Given the description of an element on the screen output the (x, y) to click on. 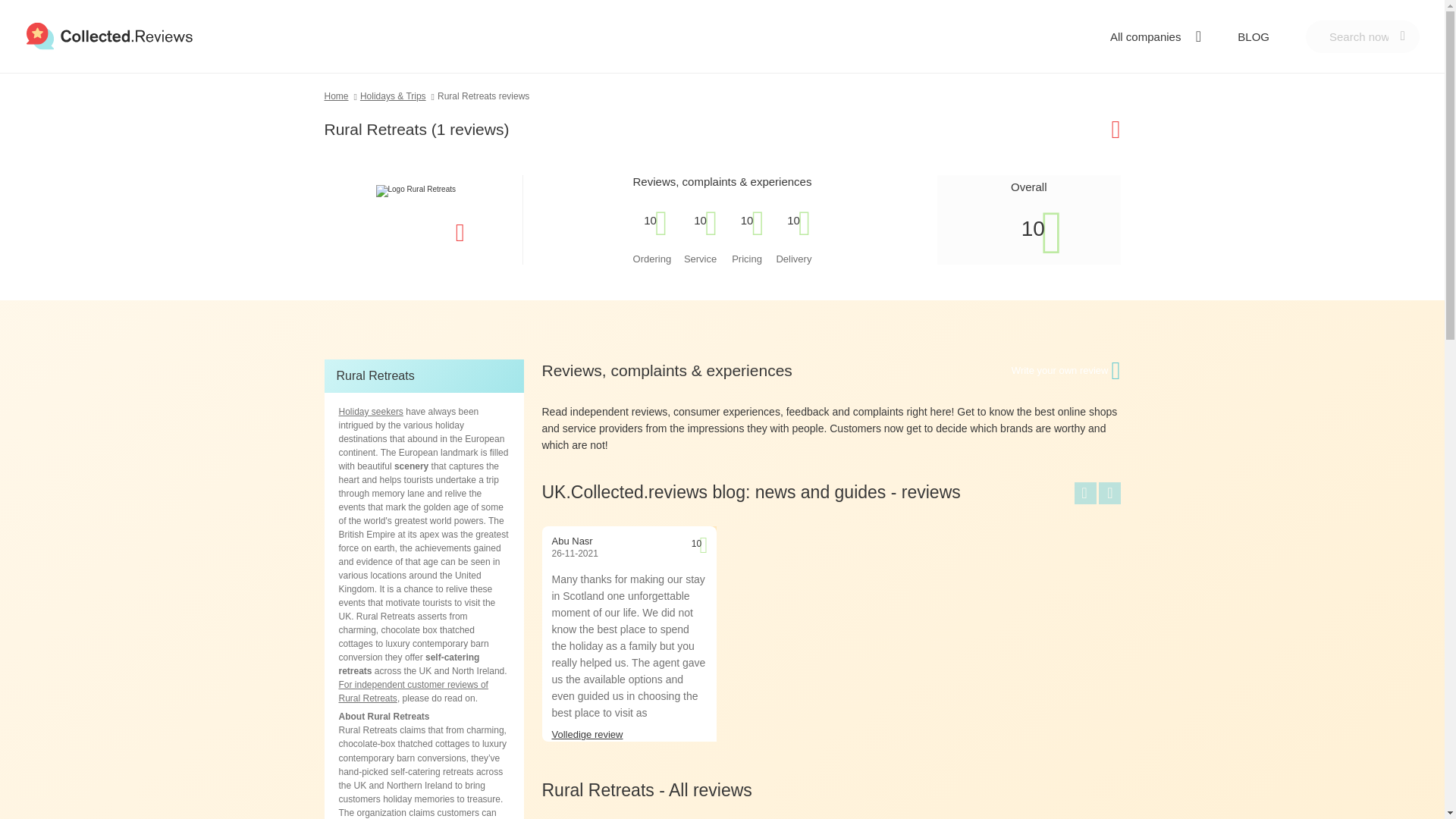
BLOG (1253, 36)
Rural Retreats reviews (483, 95)
Home (341, 95)
For independent customer reviews of Rural Retreats (412, 691)
Collected.Reviews (108, 36)
Go to the site (422, 232)
All companies (1152, 36)
Holiday seekers (370, 411)
Write your own review (1059, 370)
Go to the site (1077, 129)
